Given the description of an element on the screen output the (x, y) to click on. 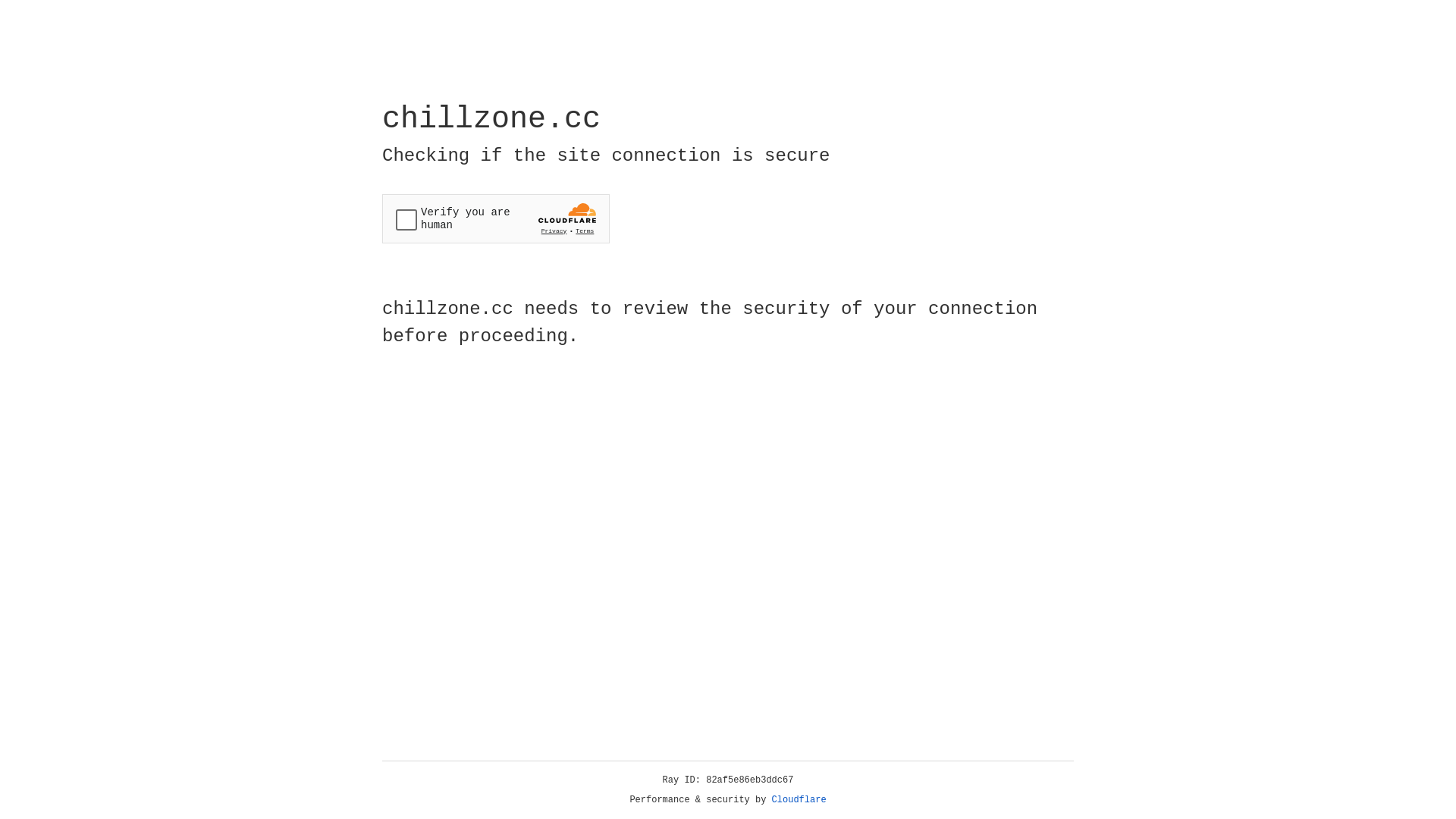
Widget containing a Cloudflare security challenge Element type: hover (495, 218)
Cloudflare Element type: text (798, 799)
